Given the description of an element on the screen output the (x, y) to click on. 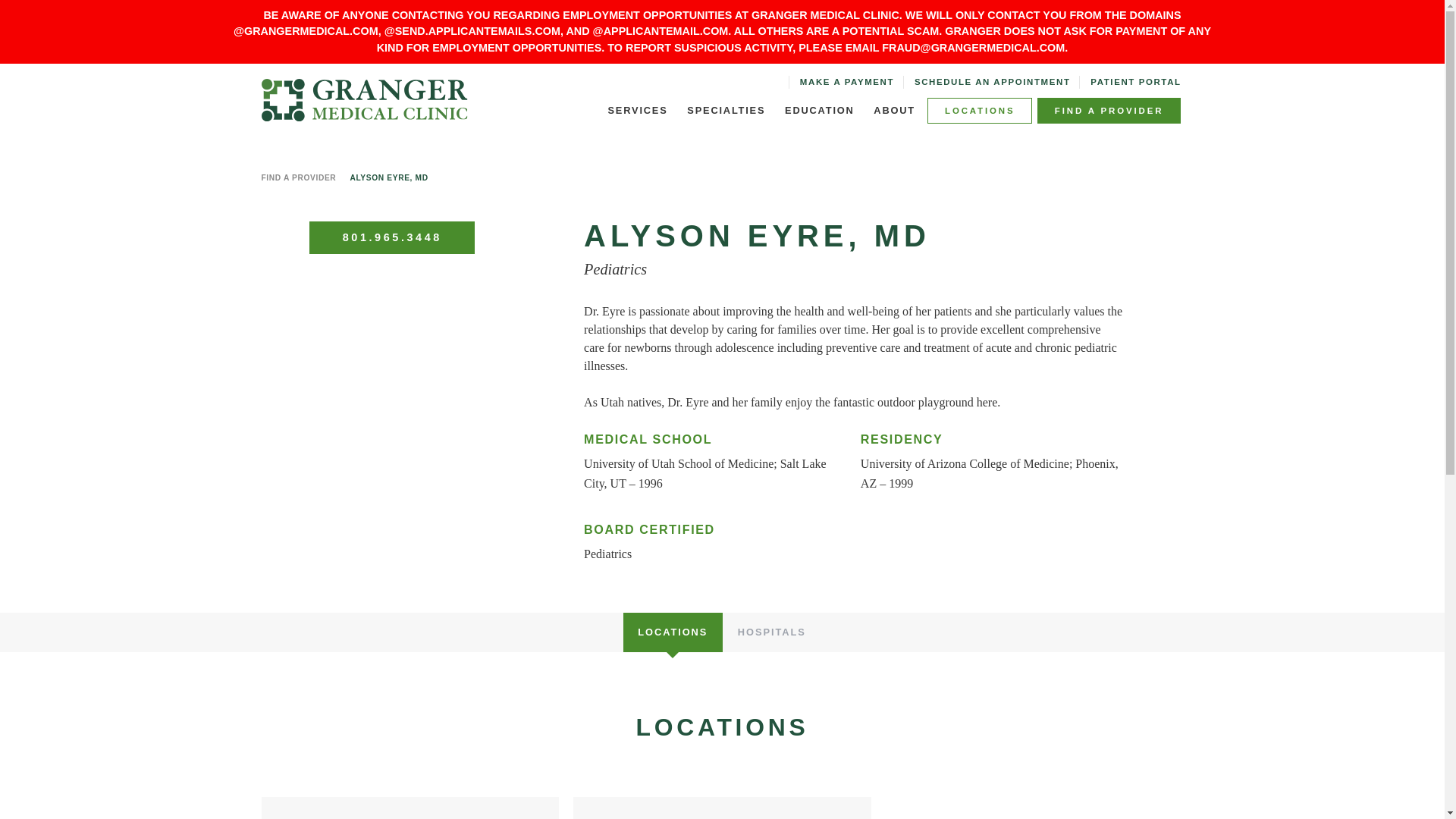
FIND A PROVIDER (298, 177)
LOCATIONS (979, 110)
HOSPITALS (772, 632)
LOCATIONS (672, 632)
ABOUT (894, 110)
MAKE A PAYMENT (846, 81)
FIND A PROVIDER (1108, 110)
SCHEDULE AN APPOINTMENT (992, 81)
EDUCATION (819, 110)
SPECIALTIES (726, 110)
801.965.3448 (391, 237)
SERVICES (636, 110)
PATIENT PORTAL (1135, 81)
